Given the description of an element on the screen output the (x, y) to click on. 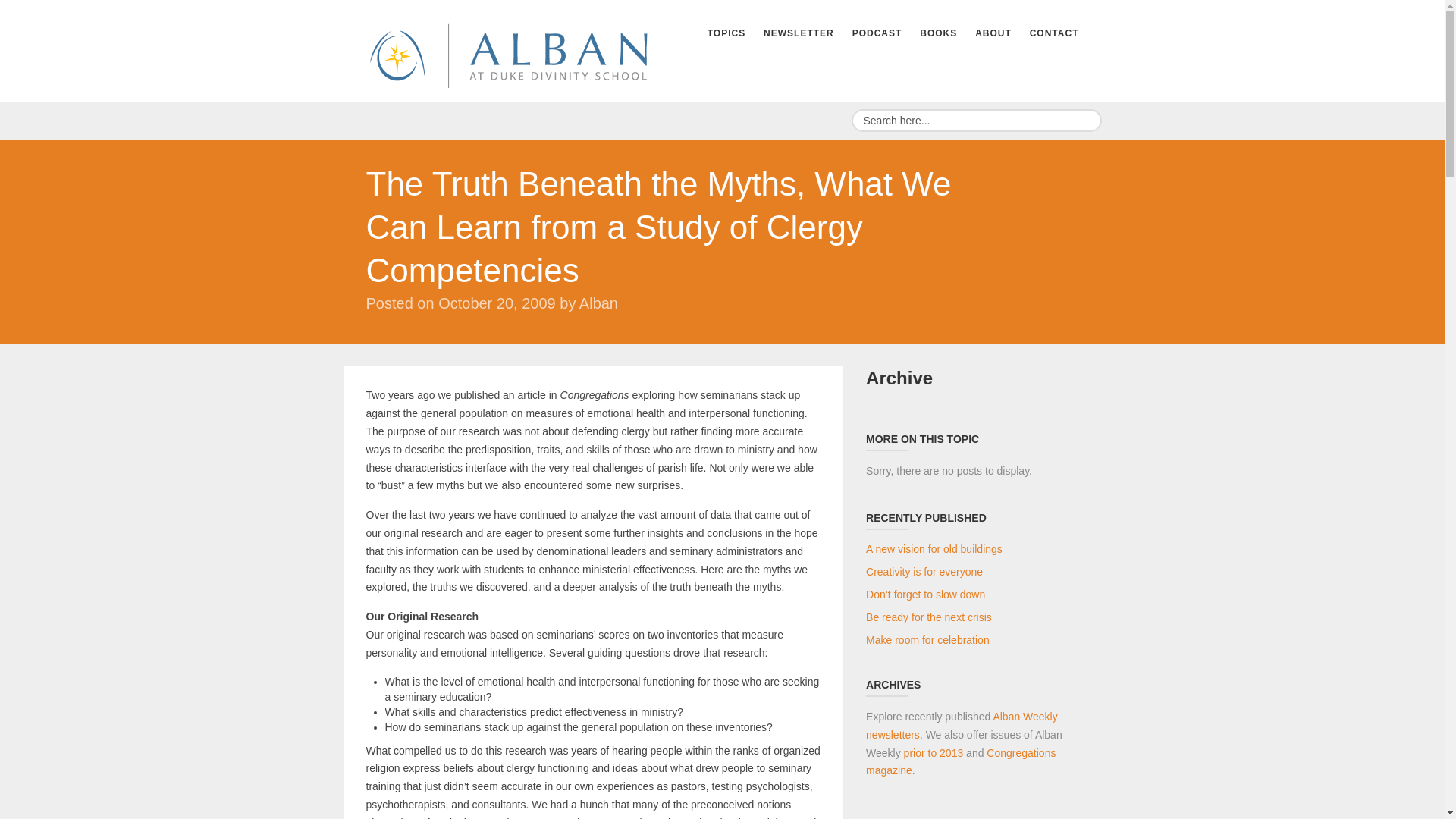
Alban at Duke Divinity School (507, 52)
Search here... (975, 119)
TOPICS (726, 32)
Search here... (975, 119)
